Given the description of an element on the screen output the (x, y) to click on. 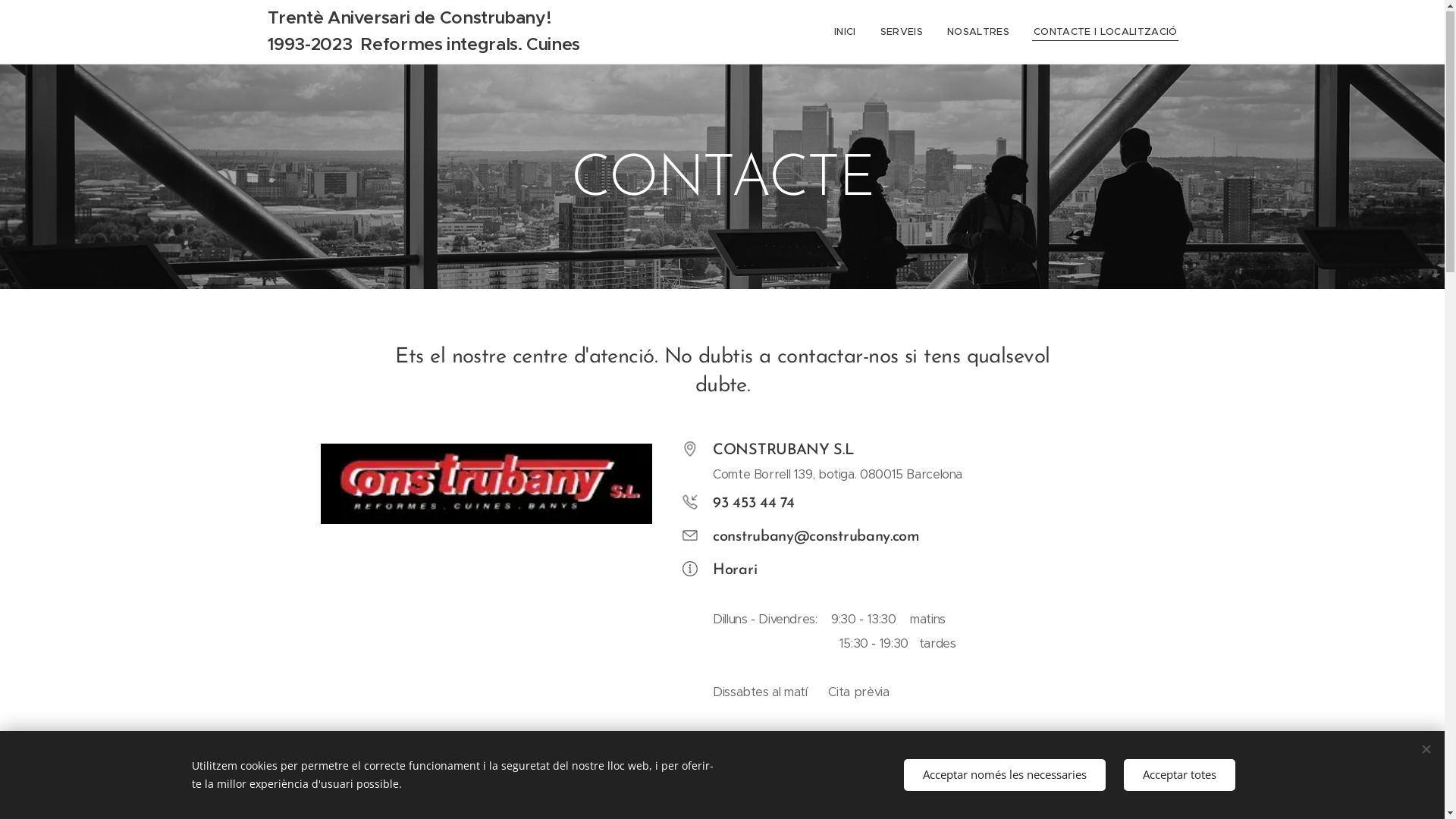
Acceptar totes Element type: text (1179, 774)
NOSALTRES Element type: text (978, 32)
SERVEIS Element type: text (901, 32)
INICI Element type: text (849, 32)
